Given the description of an element on the screen output the (x, y) to click on. 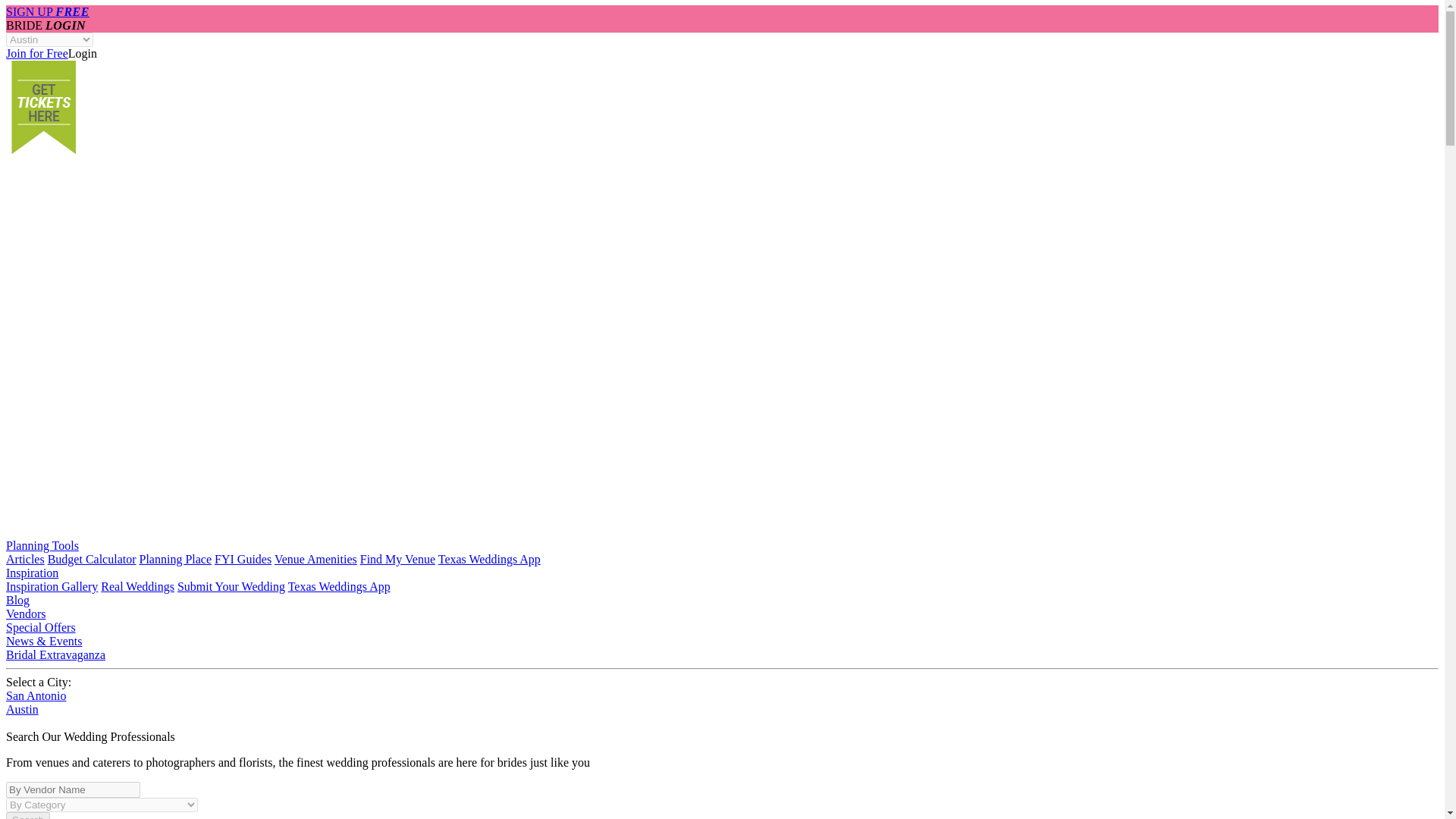
Join for Free (36, 52)
FYI Guides (242, 558)
Venue Amenities (315, 558)
Real Weddings (137, 585)
Find My Venue (397, 558)
Texas Weddings App (339, 585)
Login (82, 52)
Planning Tools (41, 545)
Search (27, 815)
Inspiration (31, 572)
